Given the description of an element on the screen output the (x, y) to click on. 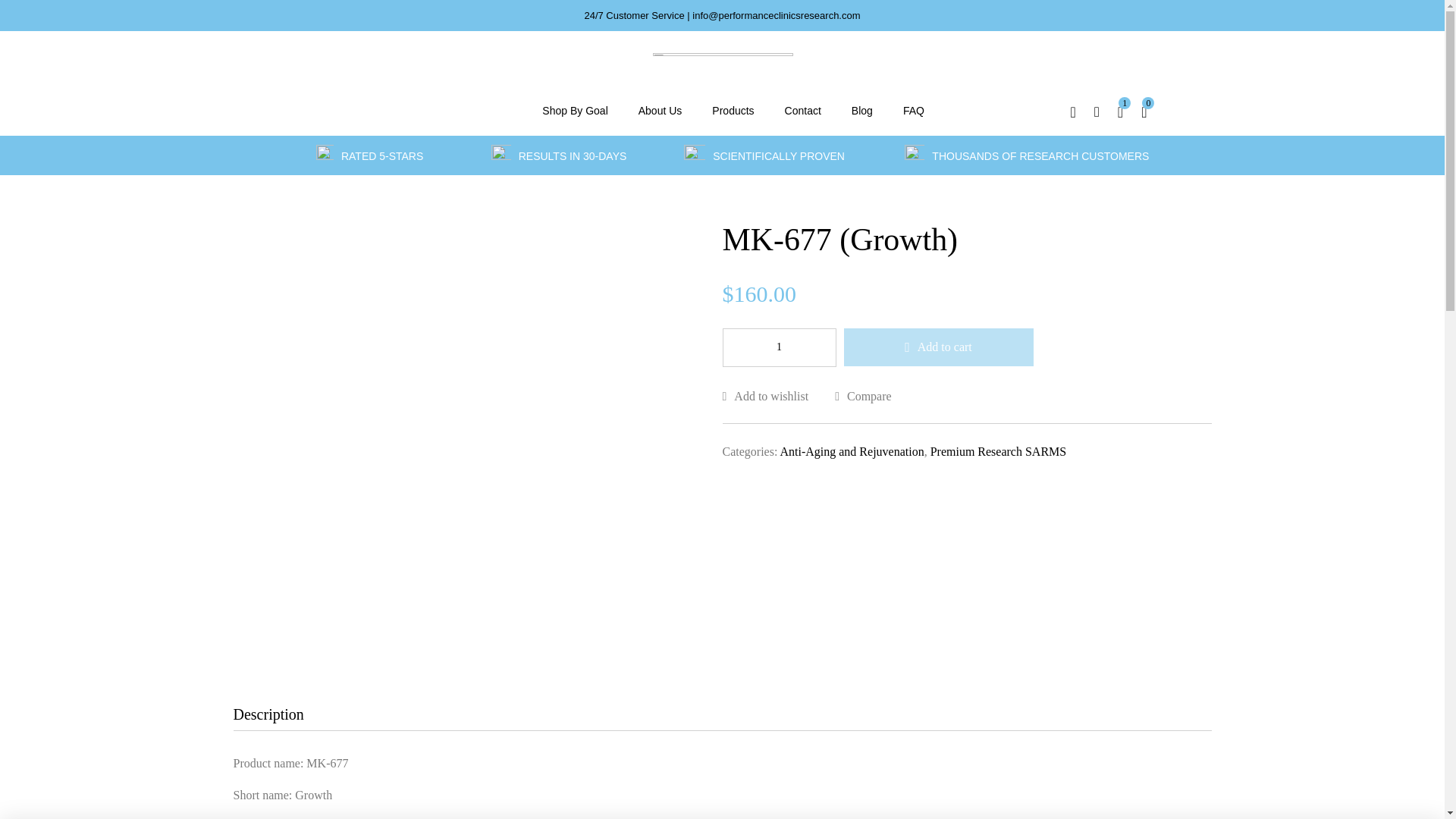
TOP (1414, 783)
Shop By Goal (575, 110)
About Us (660, 110)
Products (732, 110)
Contact (802, 110)
Blog (861, 110)
FAQ (913, 110)
